Given the description of an element on the screen output the (x, y) to click on. 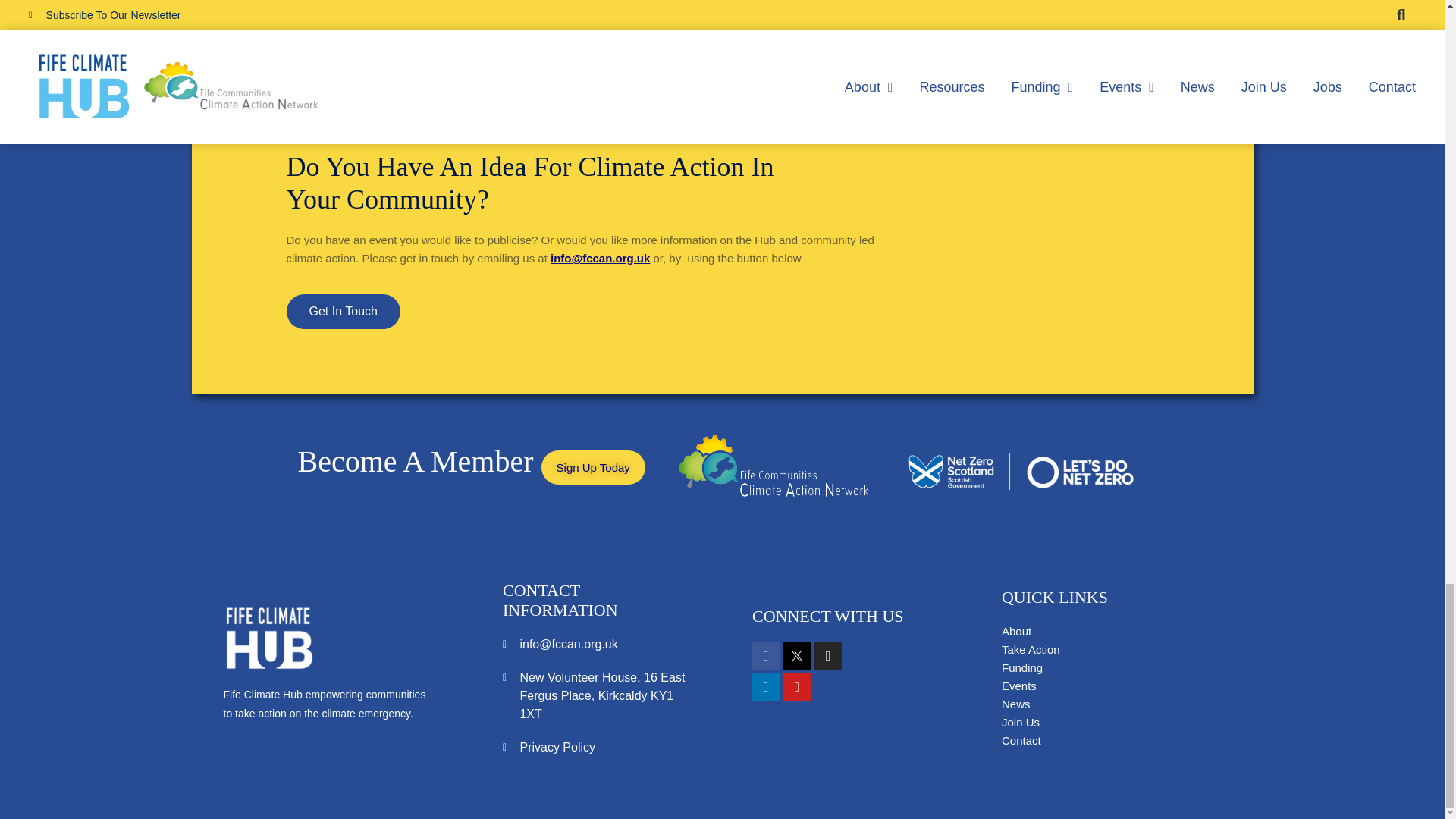
Post Comment (339, 29)
